Given the description of an element on the screen output the (x, y) to click on. 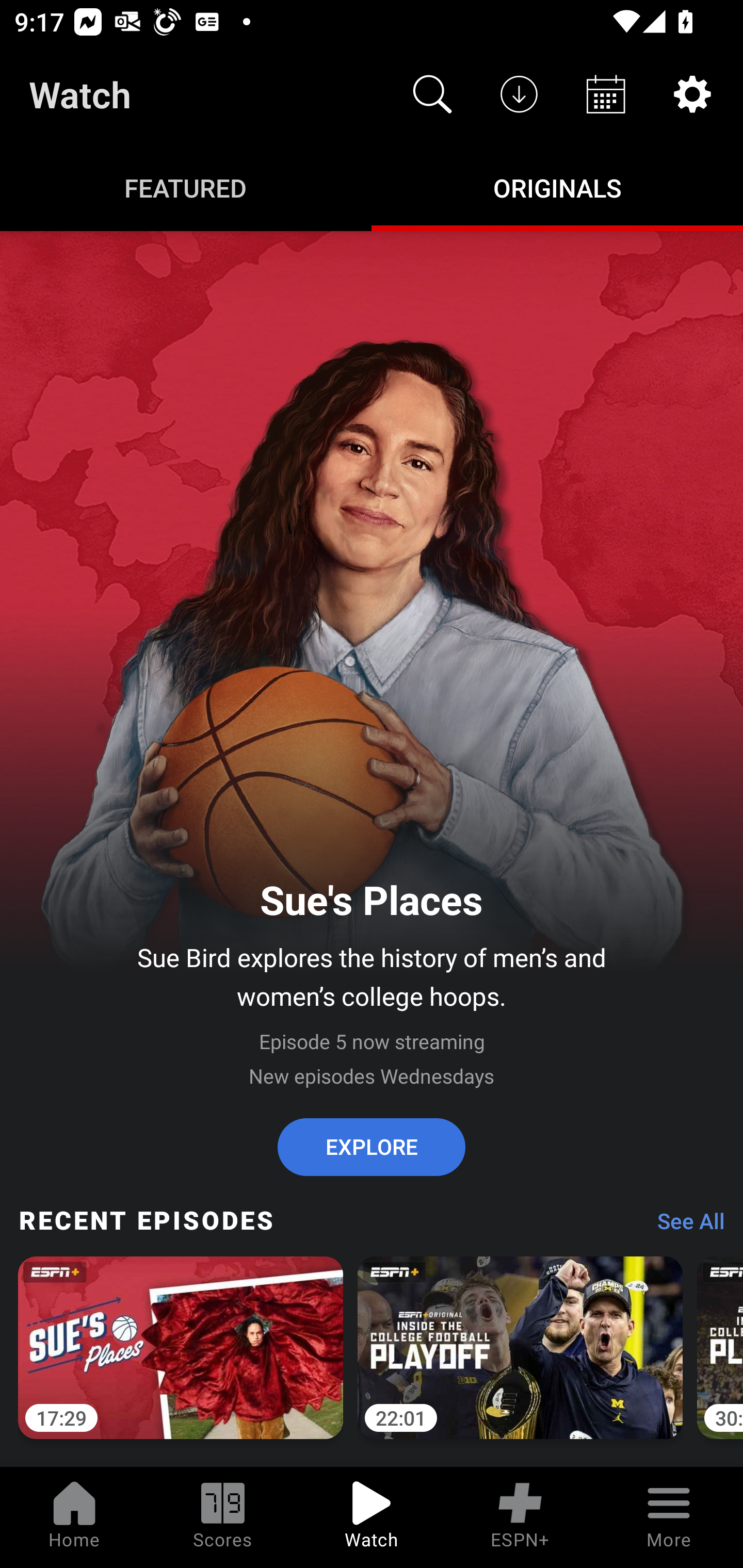
Search (432, 93)
Downloads (518, 93)
Schedule (605, 93)
Settings (692, 93)
Featured FEATURED (185, 187)
EXPLORE (371, 1146)
See All (683, 1225)
17:29 Bird is the Word (Ep. 5) (180, 1358)
22:01 Nobody Better (Ep. 4) (519, 1358)
Home (74, 1517)
Scores (222, 1517)
ESPN+ (519, 1517)
More (668, 1517)
